Given the description of an element on the screen output the (x, y) to click on. 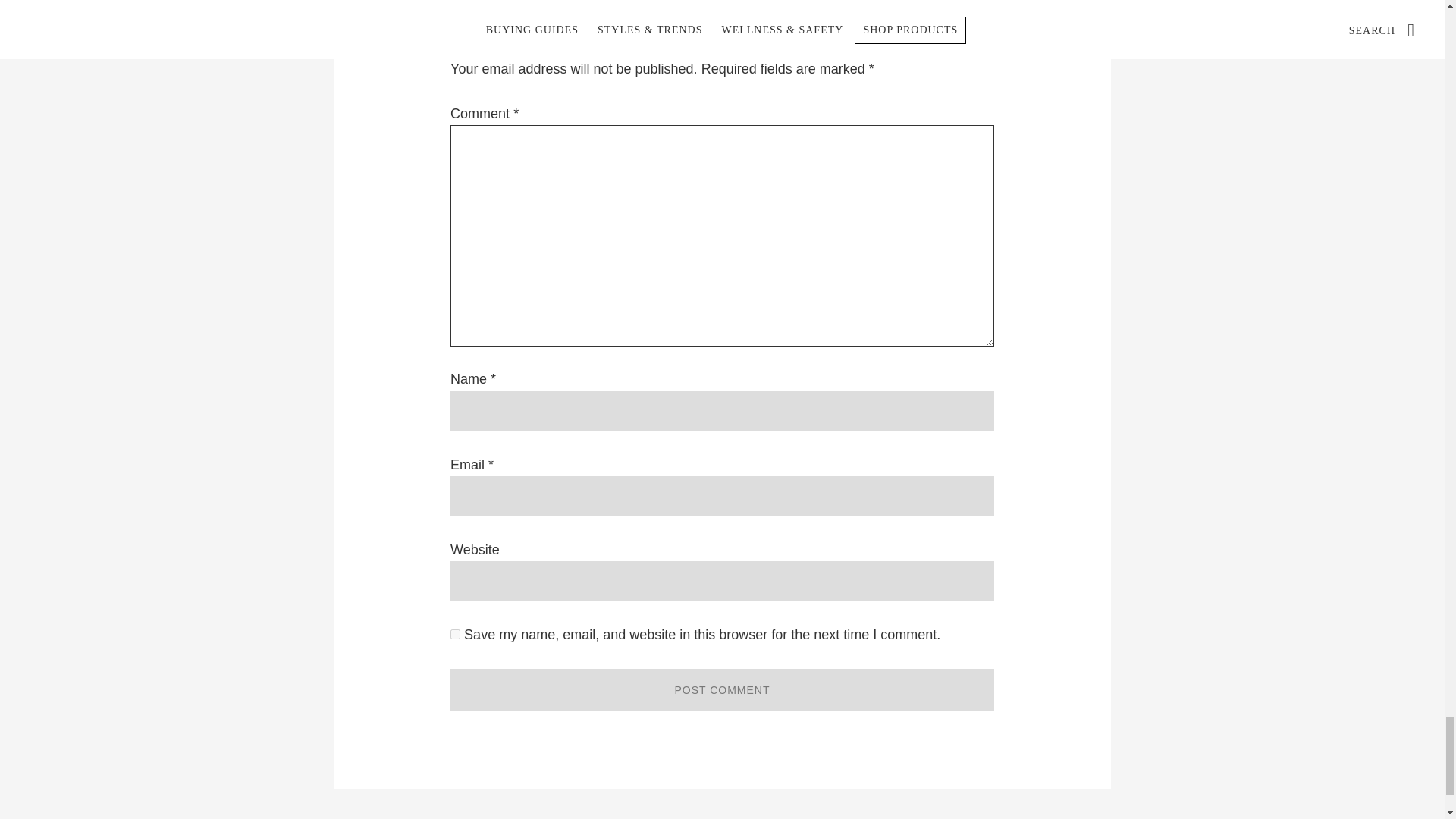
Post Comment (721, 690)
Post Comment (721, 690)
yes (454, 634)
